Given the description of an element on the screen output the (x, y) to click on. 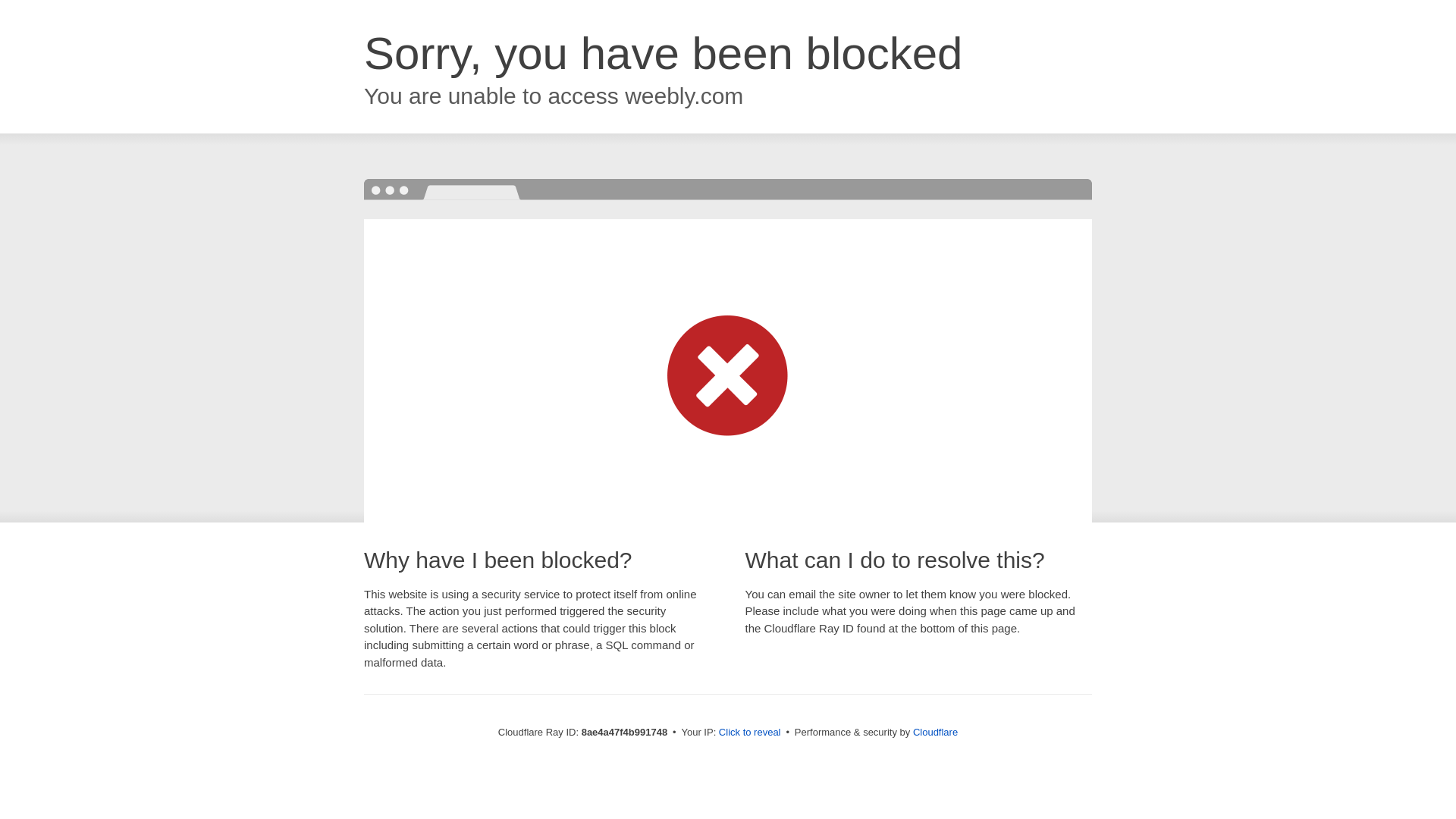
Click to reveal (749, 732)
Cloudflare (935, 731)
